Given the description of an element on the screen output the (x, y) to click on. 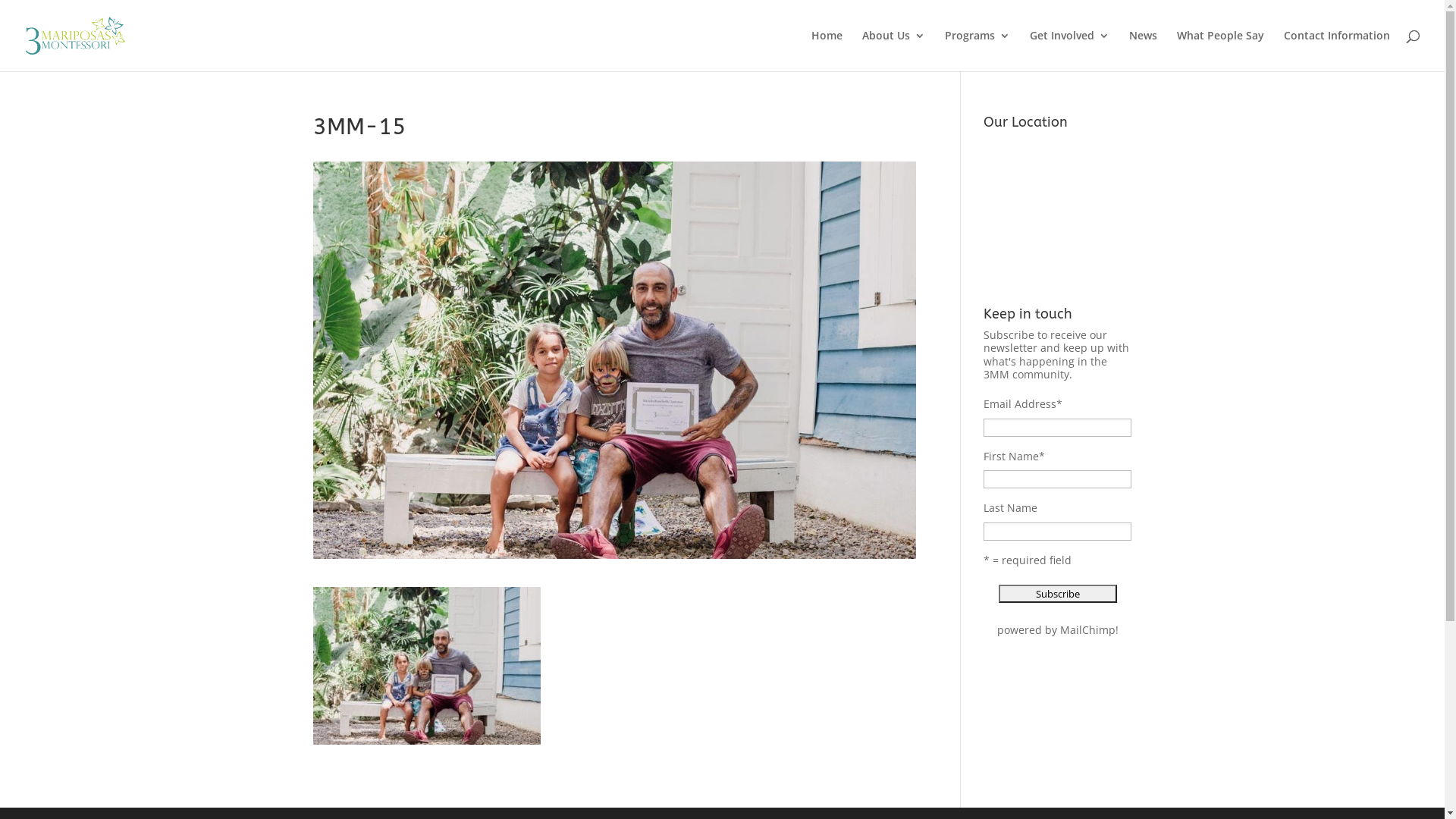
Programs Element type: text (977, 50)
News Element type: text (1143, 50)
Contact Information Element type: text (1336, 50)
Subscribe Element type: text (1057, 593)
Home Element type: text (826, 50)
MailChimp Element type: text (1087, 629)
Get Involved Element type: text (1069, 50)
What People Say Element type: text (1220, 50)
About Us Element type: text (893, 50)
